Given the description of an element on the screen output the (x, y) to click on. 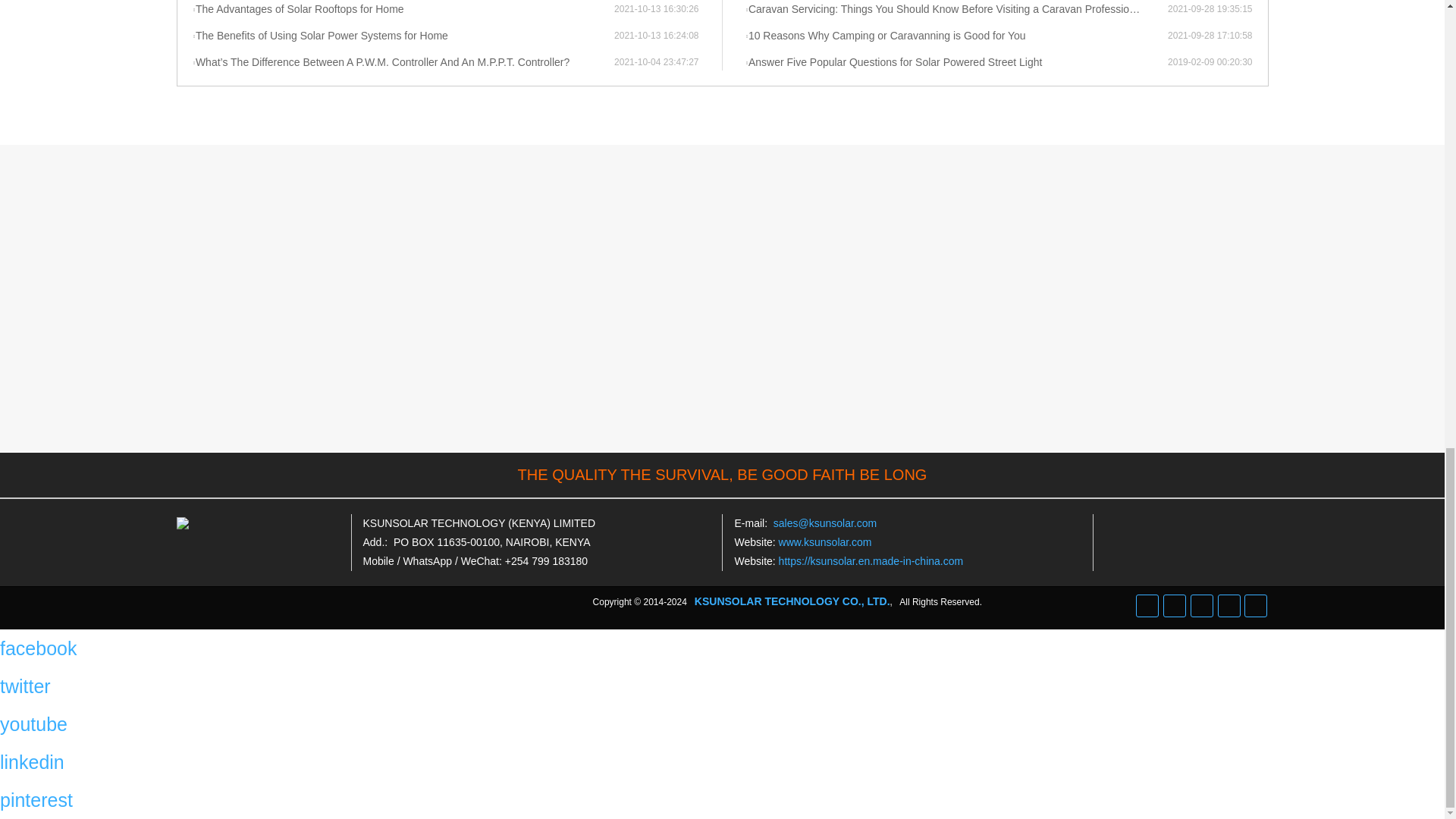
www.ksunsolar.com (825, 541)
The Benefits of Using Solar Power Systems for Home (403, 36)
10 Reasons Why Camping or Caravanning is Good for You (955, 36)
The Advantages of Solar Rooftops for Home (403, 9)
Answer Five Popular Questions for Solar Powered Street Light (955, 62)
